Given the description of an element on the screen output the (x, y) to click on. 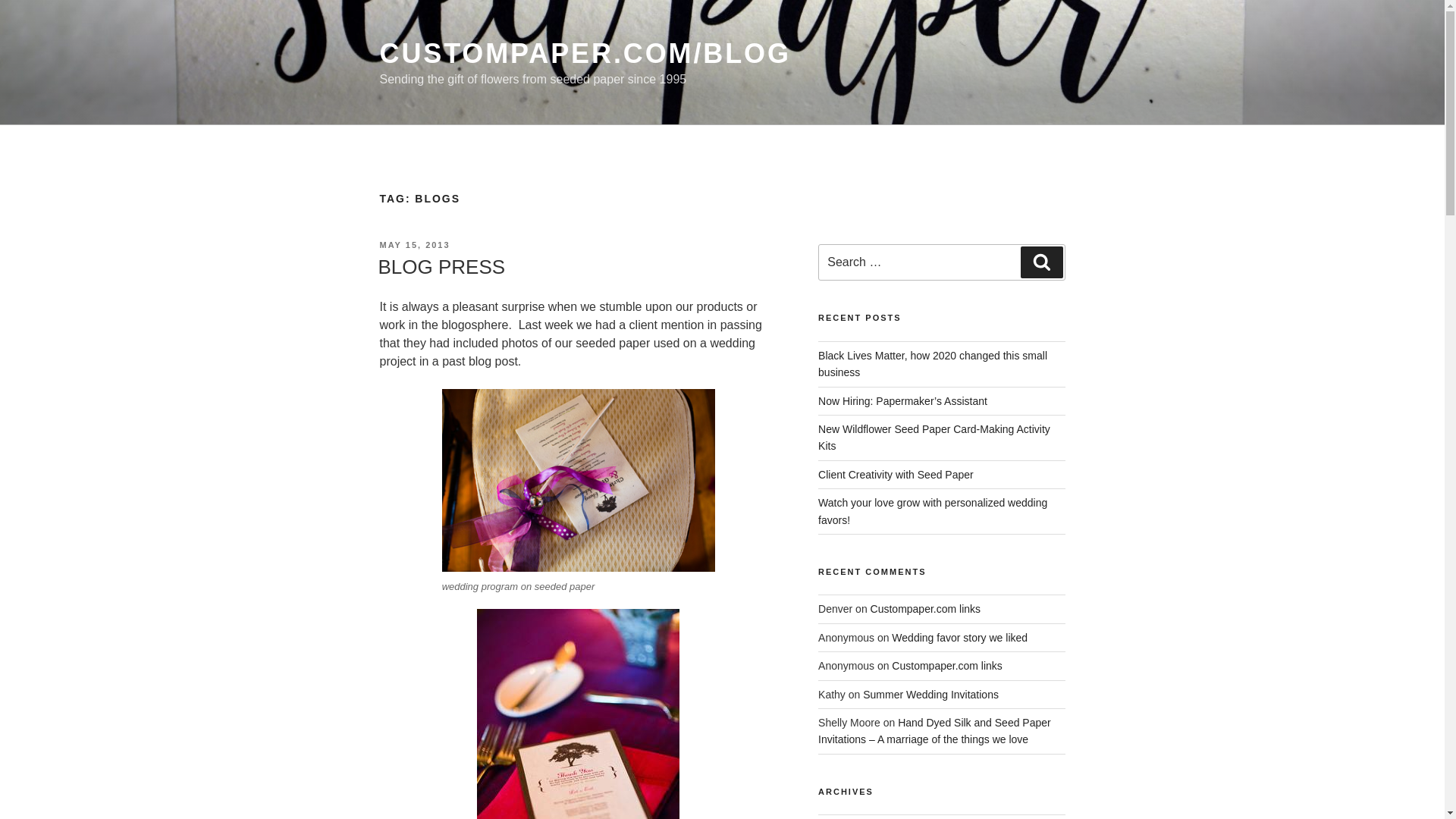
Wedding favor story we liked (959, 637)
Custompaper.com links (925, 608)
New Wildflower Seed Paper Card-Making Activity Kits (933, 437)
Search (1041, 262)
Summer Wedding Invitations (930, 694)
BLOG PRESS (441, 266)
Black Lives Matter, how 2020 changed this small business (932, 363)
Custompaper.com links (947, 665)
Watch your love grow with personalized wedding favors! (932, 510)
MAY 15, 2013 (413, 244)
Client Creativity with Seed Paper (896, 474)
